Given the description of an element on the screen output the (x, y) to click on. 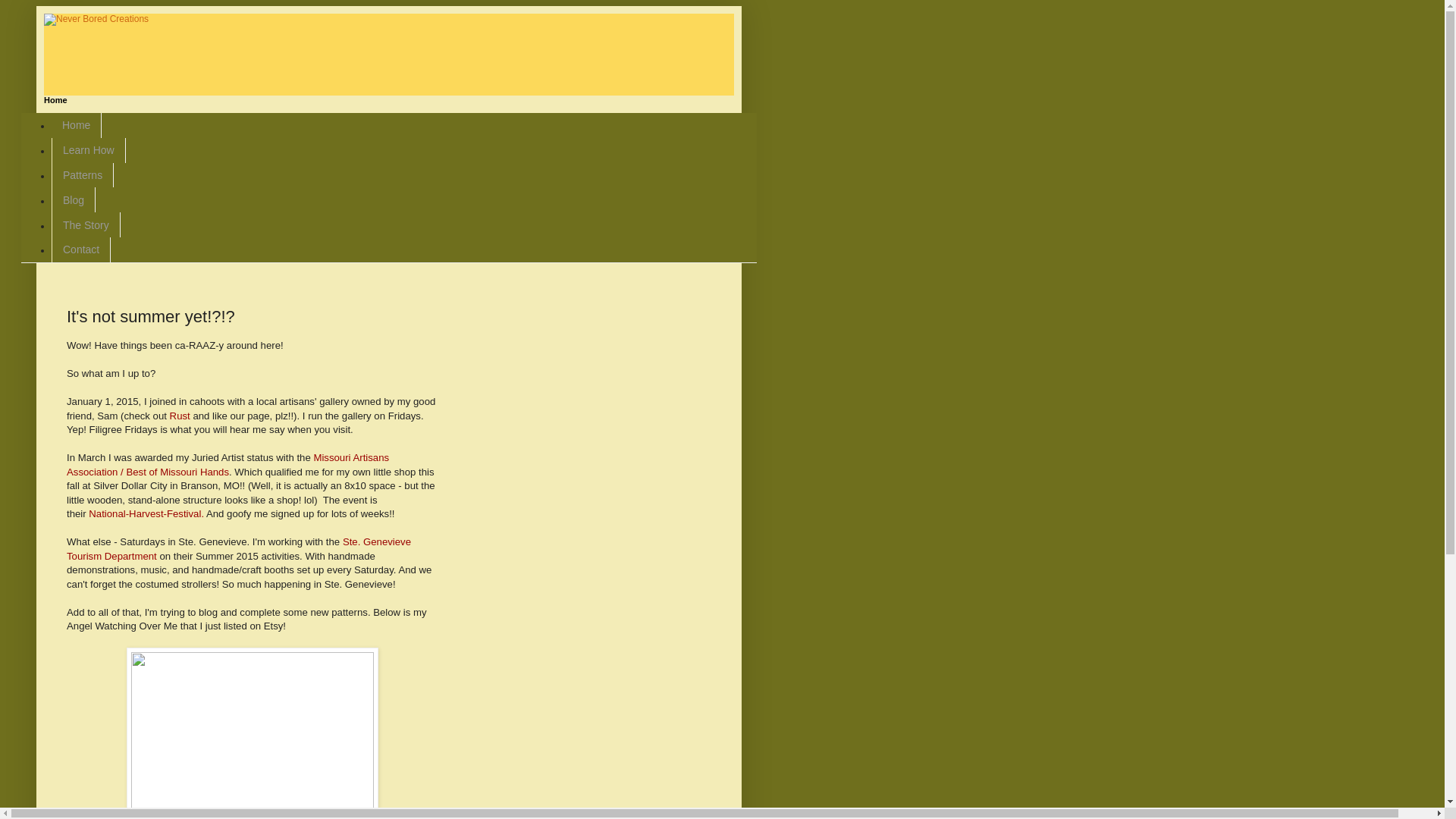
Home (75, 125)
Ste. Genevieve Tourism Department (238, 548)
Learn How (87, 150)
Blog (73, 199)
Patterns (81, 175)
The Story (85, 224)
National-Harvest-Festival (144, 513)
Rust (180, 415)
Contact (80, 249)
